Given the description of an element on the screen output the (x, y) to click on. 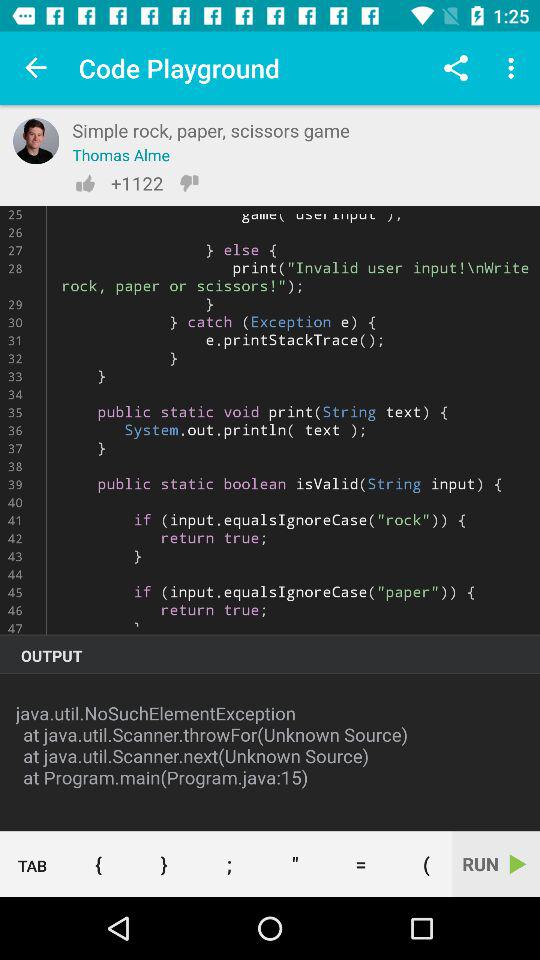
go to image option (36, 141)
